Given the description of an element on the screen output the (x, y) to click on. 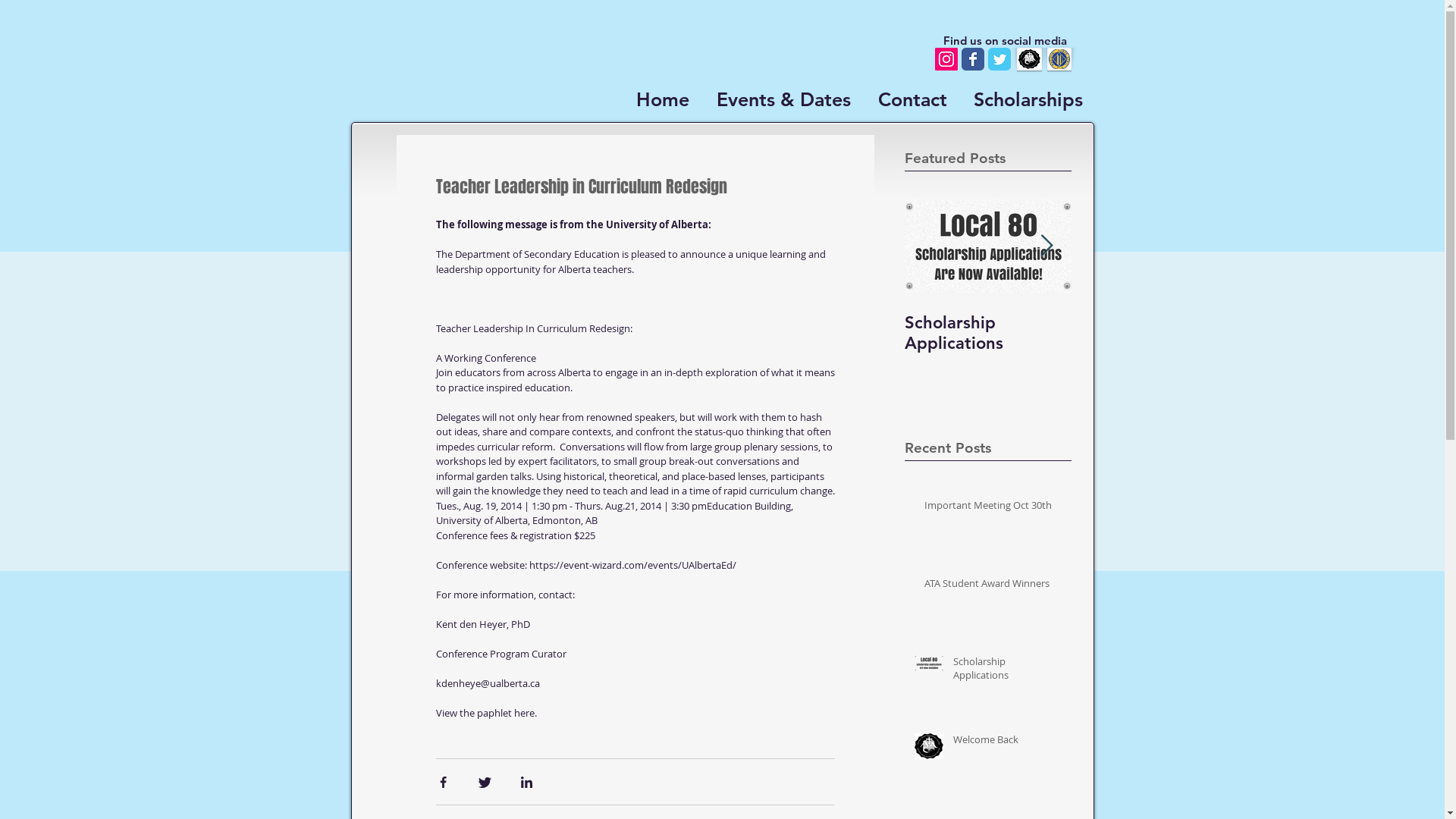
Scholarship Applications Element type: text (1006, 670)
Events & Dates Element type: text (781, 98)
Scholarships Element type: text (1026, 98)
Logo.png Element type: hover (1028, 58)
Scholarship Applications Element type: text (986, 332)
Home Element type: text (660, 98)
Welcome Back Element type: text (1006, 742)
ATA Student Award Winners Element type: text (992, 586)
Contact Element type: text (909, 98)
Important Meeting Oct 30th Element type: text (992, 507)
ata2.gif Element type: hover (1058, 58)
Local 80 Teacher Turns Heads Element type: text (1153, 332)
Workload Survey Fall 2014 Element type: text (1320, 332)
